Given the description of an element on the screen output the (x, y) to click on. 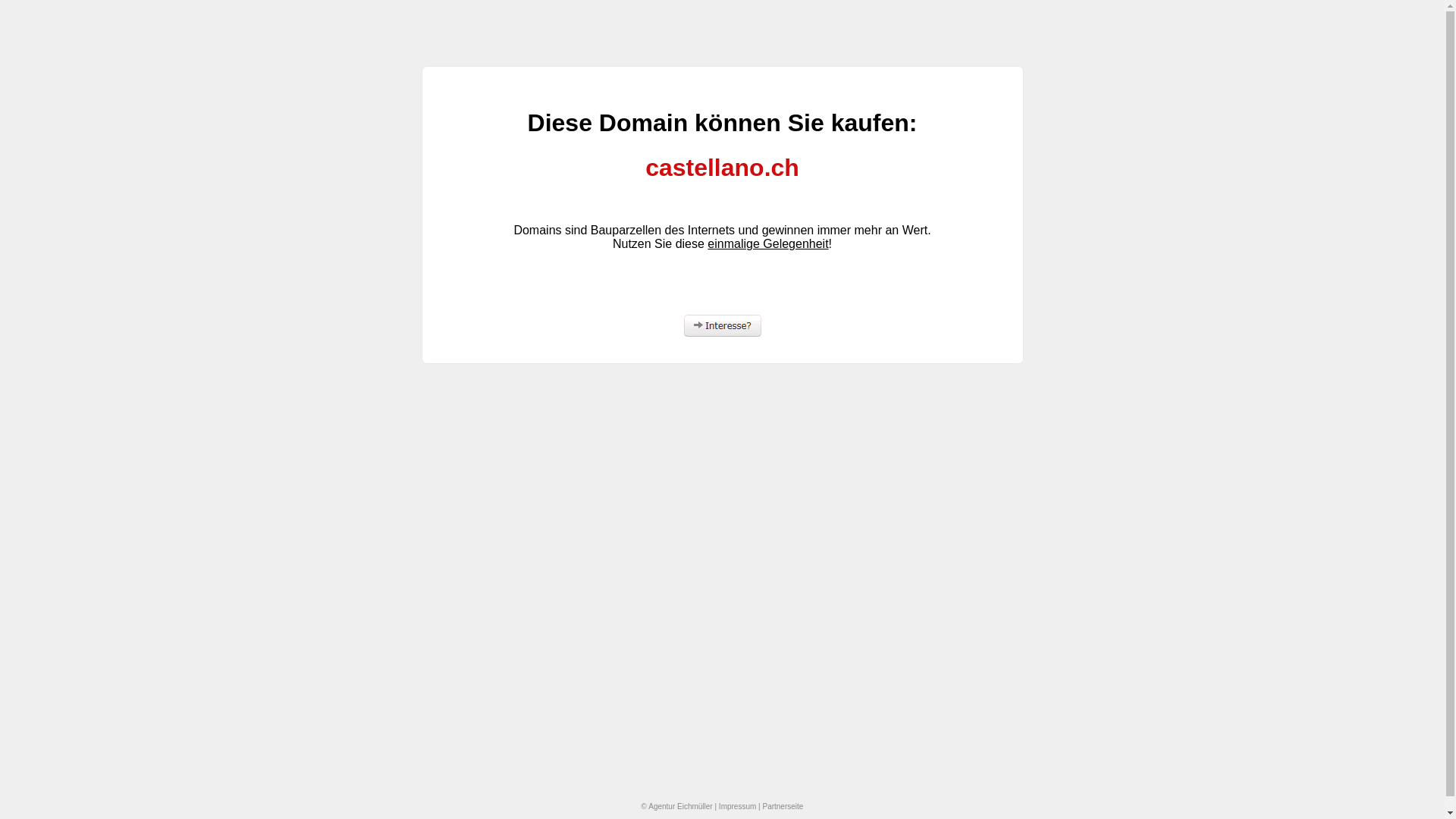
Partnerseite Element type: text (782, 806)
castellano.ch Element type: text (721, 167)
Impressum Element type: text (737, 806)
